Given the description of an element on the screen output the (x, y) to click on. 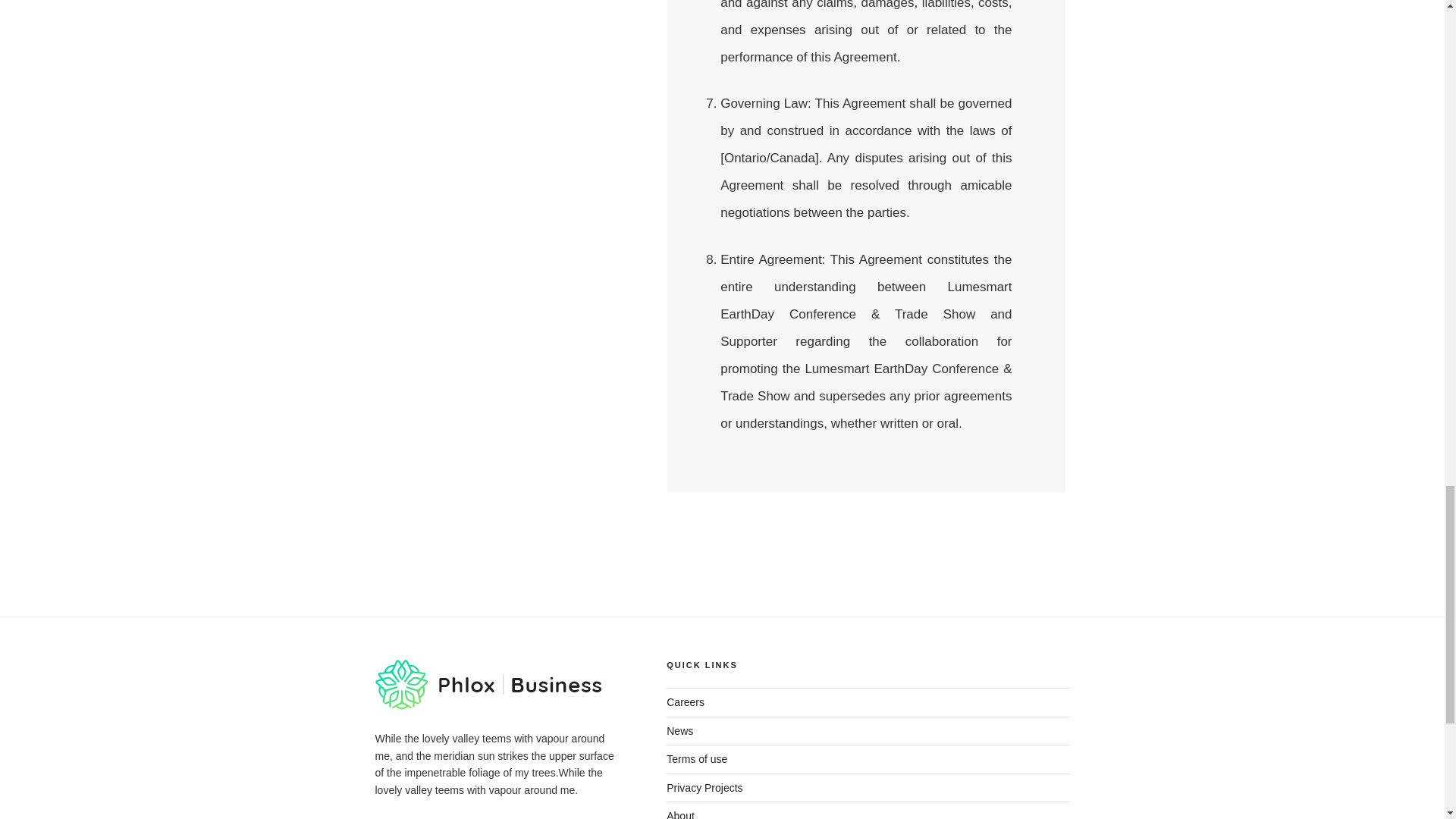
Careers (685, 702)
News (679, 730)
About (680, 814)
Privacy Projects (704, 787)
Terms of use (696, 758)
